Given the description of an element on the screen output the (x, y) to click on. 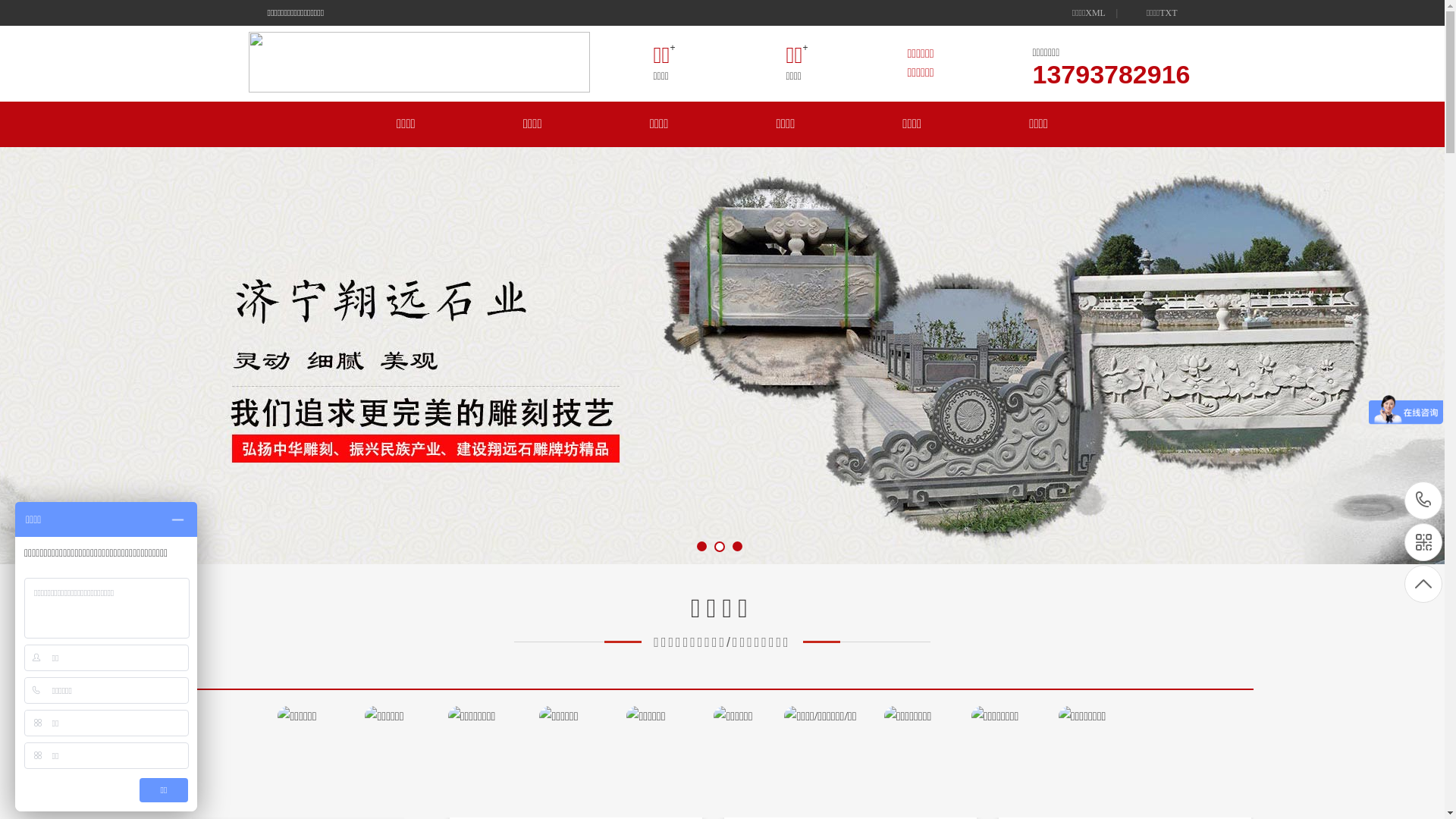
tel Element type: hover (1423, 500)
